Given the description of an element on the screen output the (x, y) to click on. 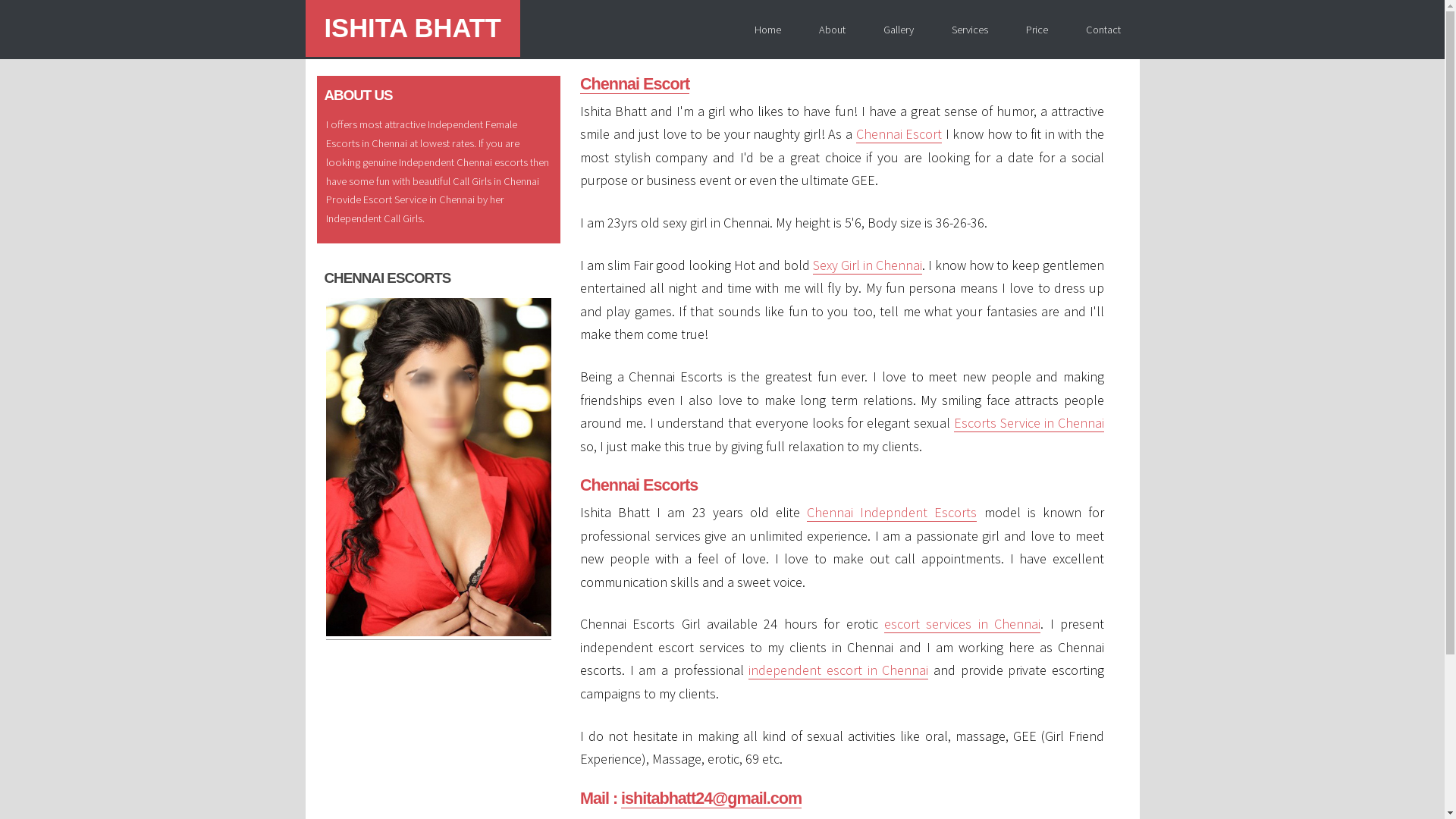
Chennai Escort Element type: text (899, 134)
Home Element type: text (767, 29)
Chennai Indepndent Escorts Element type: text (891, 512)
independent escort in Chennai Element type: text (838, 670)
Chennai Escort Element type: text (634, 84)
Price Element type: text (1036, 29)
Contact Element type: text (1102, 29)
Services Element type: text (969, 29)
Escorts Service in Chennai Element type: text (1028, 423)
ISHITA BHATT Element type: text (411, 28)
About Element type: text (831, 29)
Sexy Girl in Chennai Element type: text (867, 265)
ishitabhatt24@gmail.com Element type: text (711, 798)
Gallery Element type: text (898, 29)
escort services in Chennai Element type: text (962, 624)
